Given the description of an element on the screen output the (x, y) to click on. 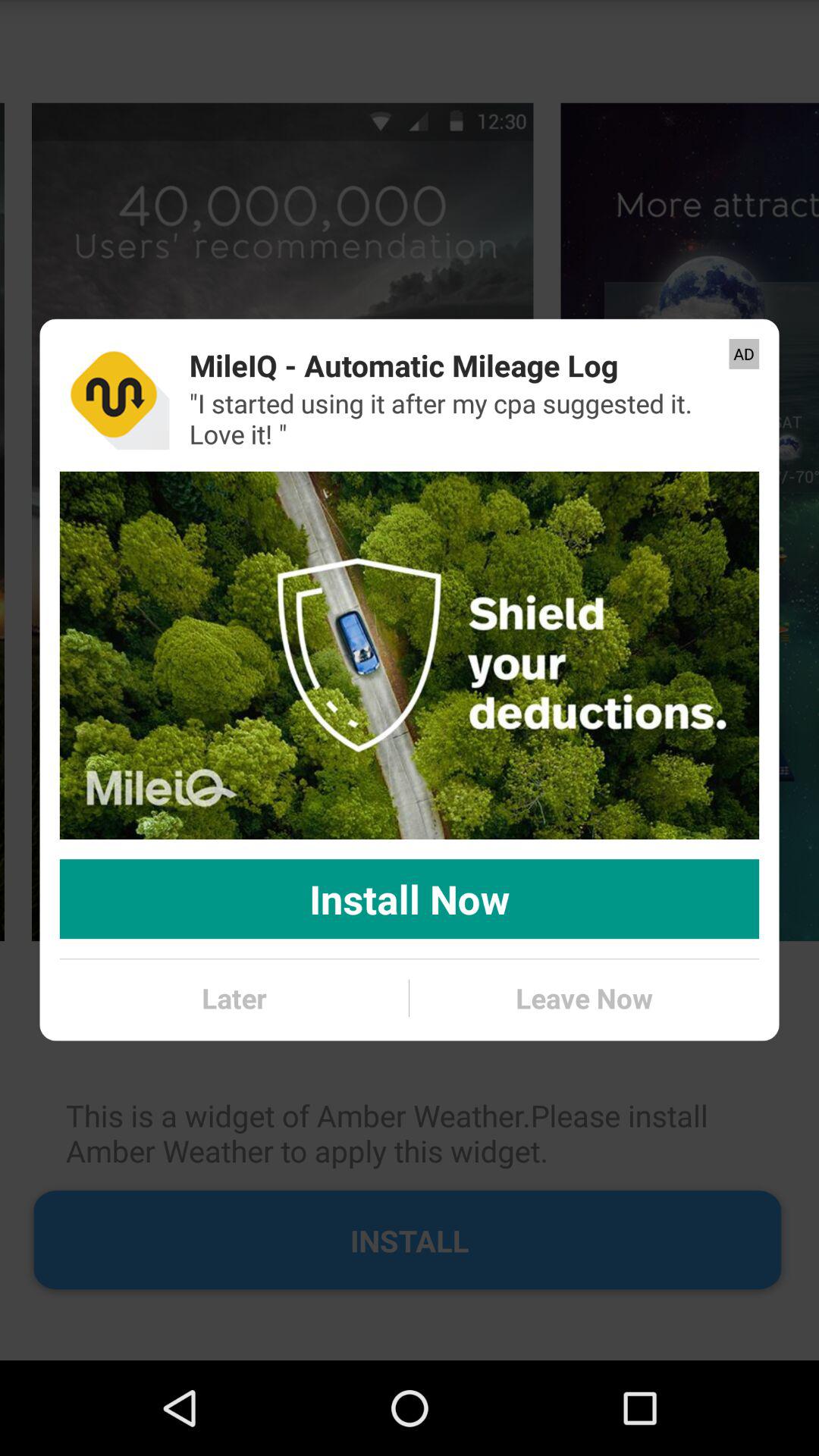
open leave now (584, 997)
